Given the description of an element on the screen output the (x, y) to click on. 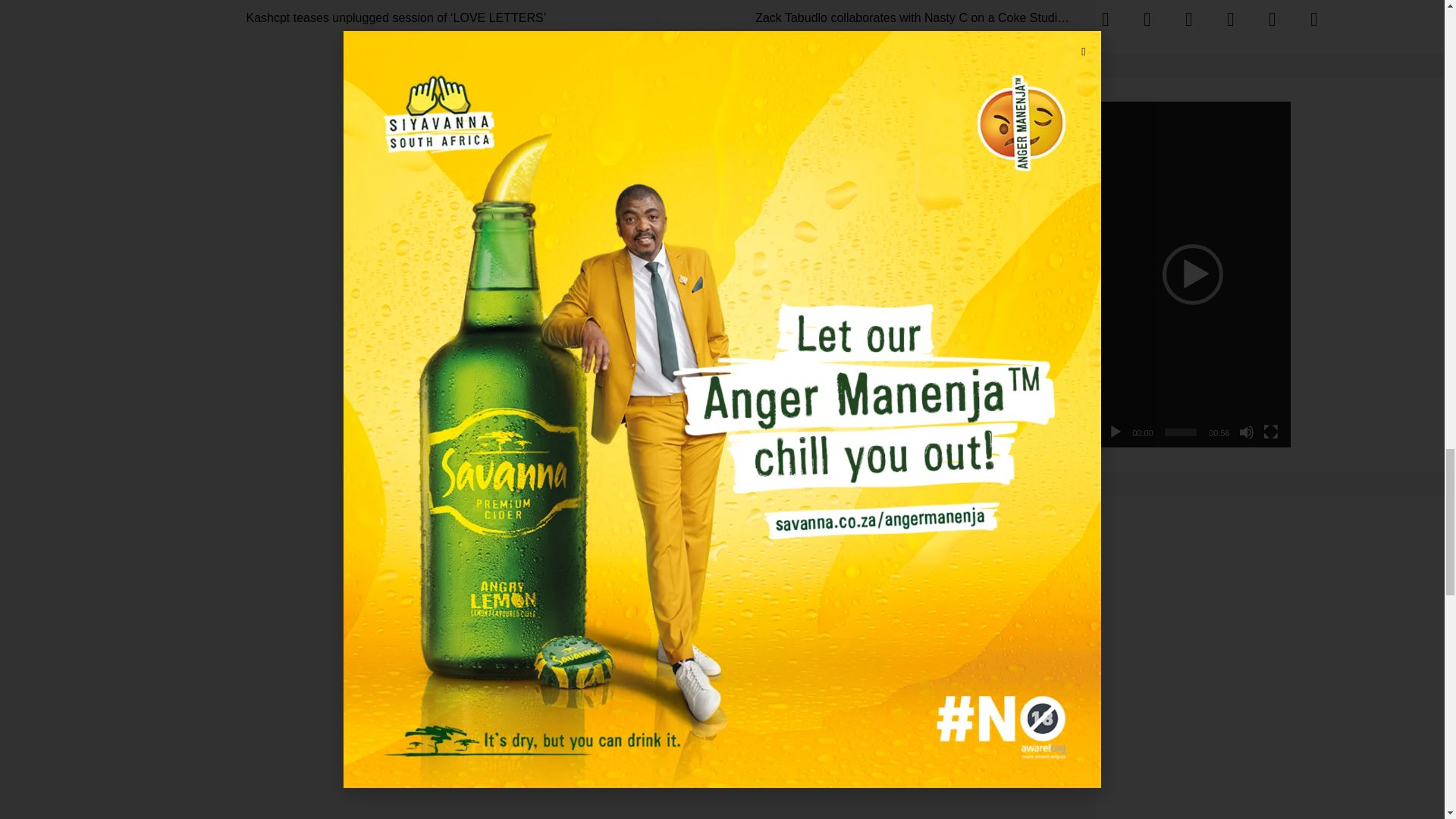
Apple (1313, 18)
3rd party ad content (1209, 680)
Fullscreen (1270, 432)
Whatsapp (1271, 18)
Tiktok (1230, 18)
X-twitter (1146, 18)
Kashcpt teases unplugged session of 'LOVE LETTERS' (411, 13)
Facebook (1105, 18)
Play (1115, 432)
Mute (1246, 432)
Instagram (1188, 18)
